Given the description of an element on the screen output the (x, y) to click on. 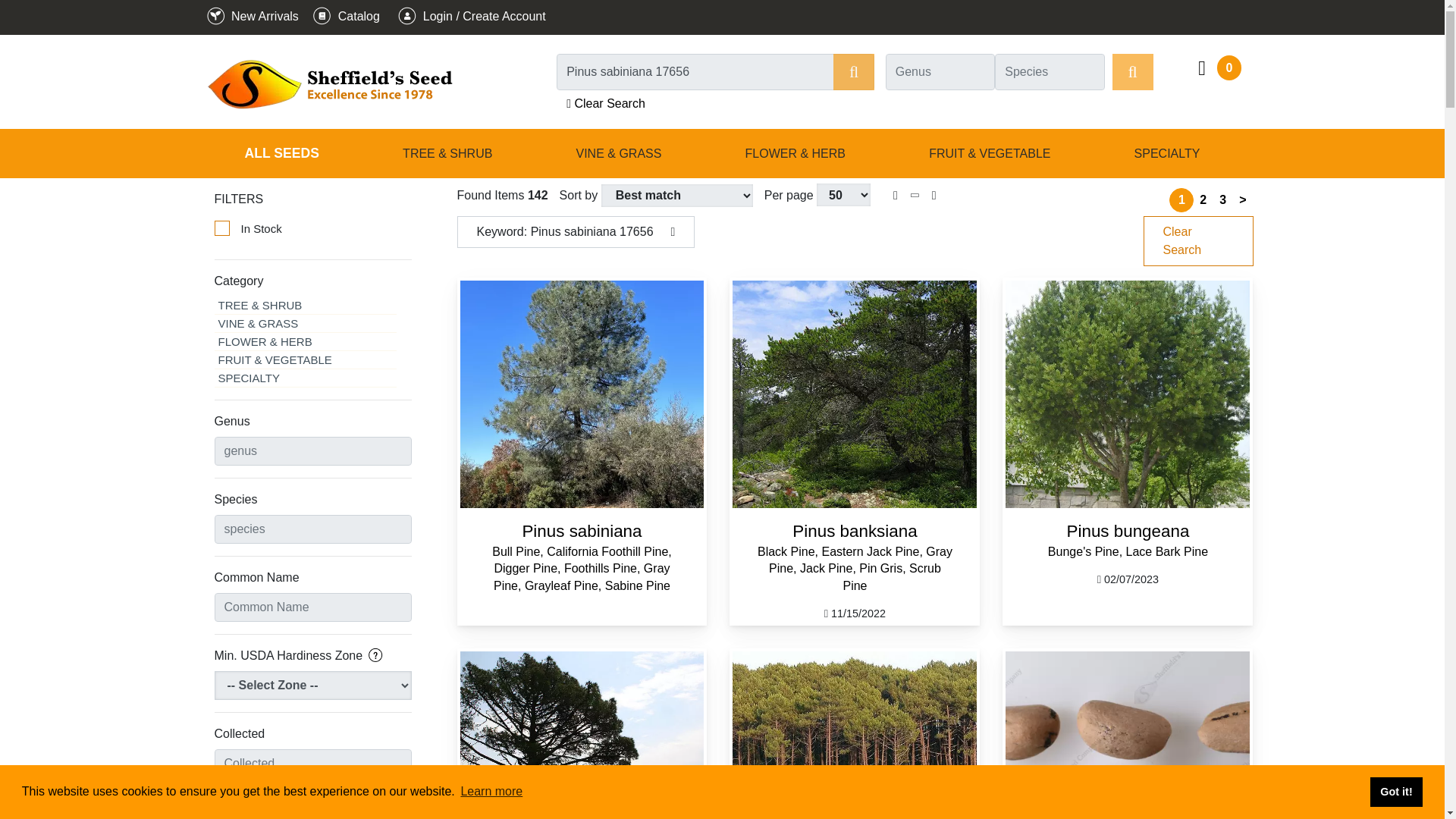
species (1049, 72)
genus (940, 72)
Collected (312, 763)
genus (312, 451)
New Arrivals (250, 15)
Clear Search (605, 103)
Learn more (491, 791)
0 (1217, 67)
SPECIALTY (1166, 153)
species (312, 529)
Catalog (344, 15)
ALL SEEDS (281, 153)
Common Name (312, 606)
Pinus sabiniana 17656 (715, 72)
Got it! (1396, 791)
